Given the description of an element on the screen output the (x, y) to click on. 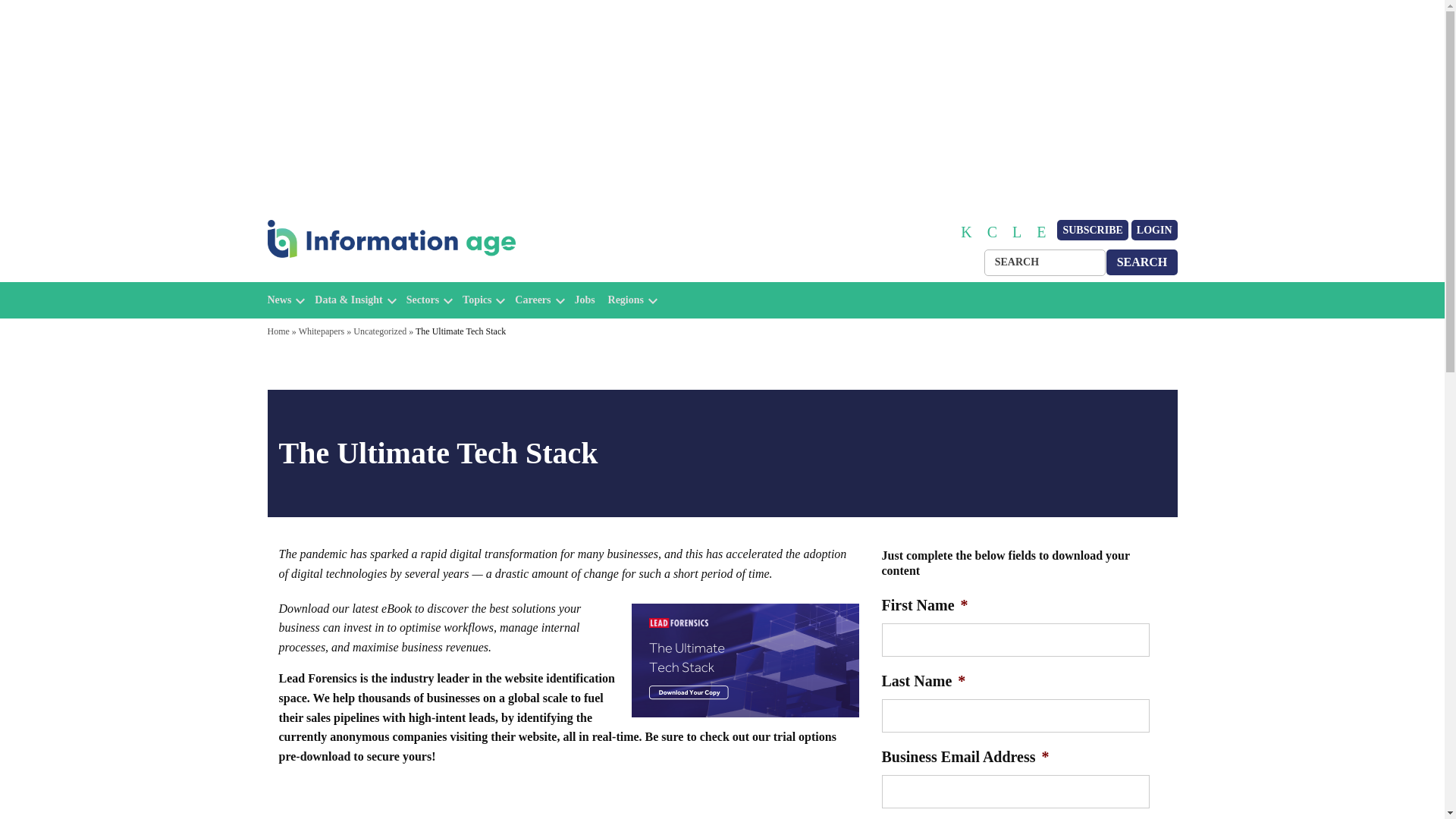
SUBSCRIBE (1091, 230)
SEARCH (1142, 261)
News (278, 299)
LOGIN (1154, 230)
Information Age (331, 275)
Sectors (422, 299)
